Given the description of an element on the screen output the (x, y) to click on. 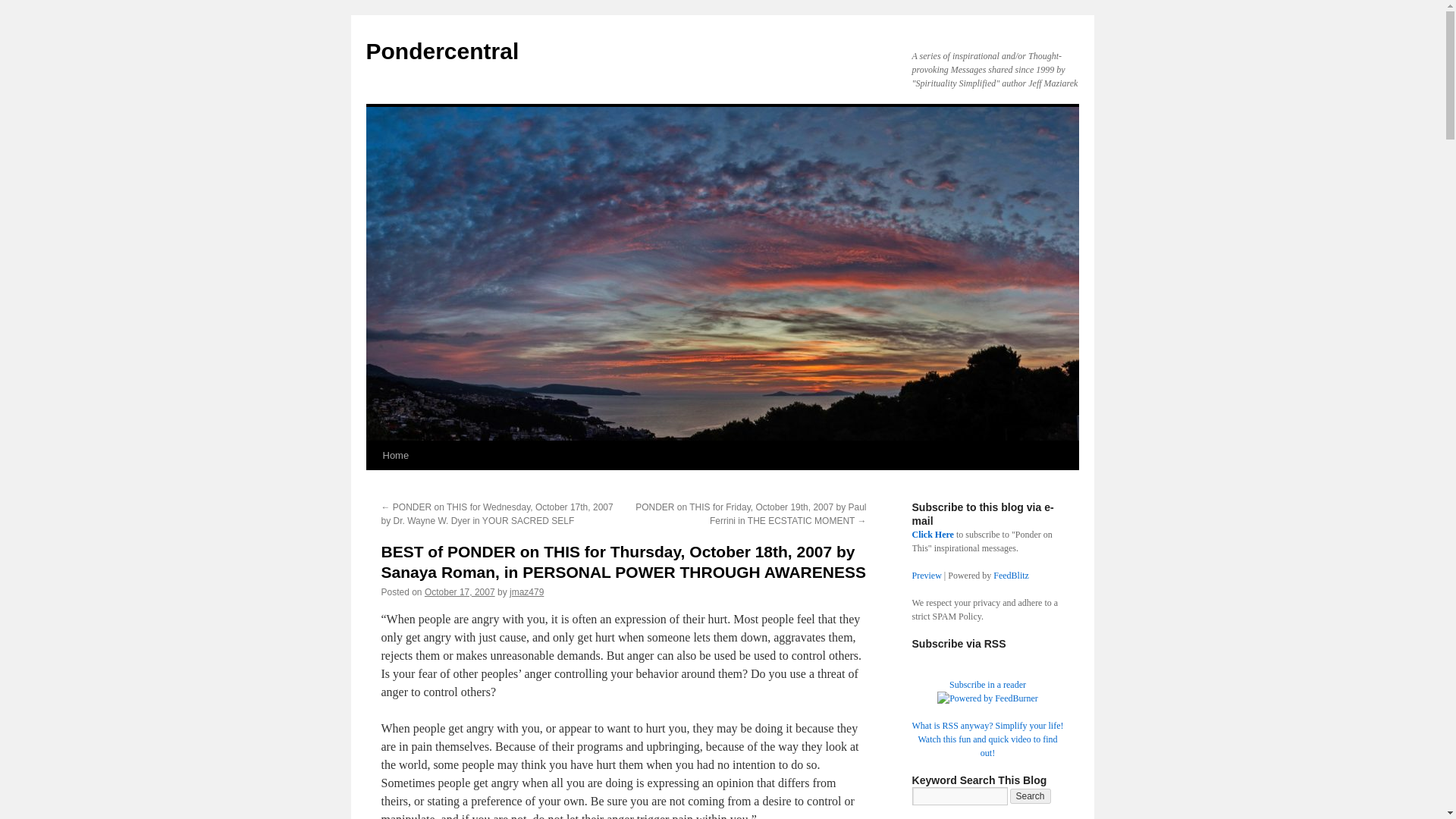
Search (1030, 795)
Pondercentral (441, 50)
jmaz479 (526, 592)
6:30 pm (460, 592)
FeedBlitz (1010, 575)
October 17, 2007 (460, 592)
Preview (925, 575)
View all posts by jmaz479 (526, 592)
Search (1030, 795)
Click Here (932, 534)
Home (395, 455)
Subscribe to my feed (987, 684)
Subscribe in a reader (987, 684)
